Given the description of an element on the screen output the (x, y) to click on. 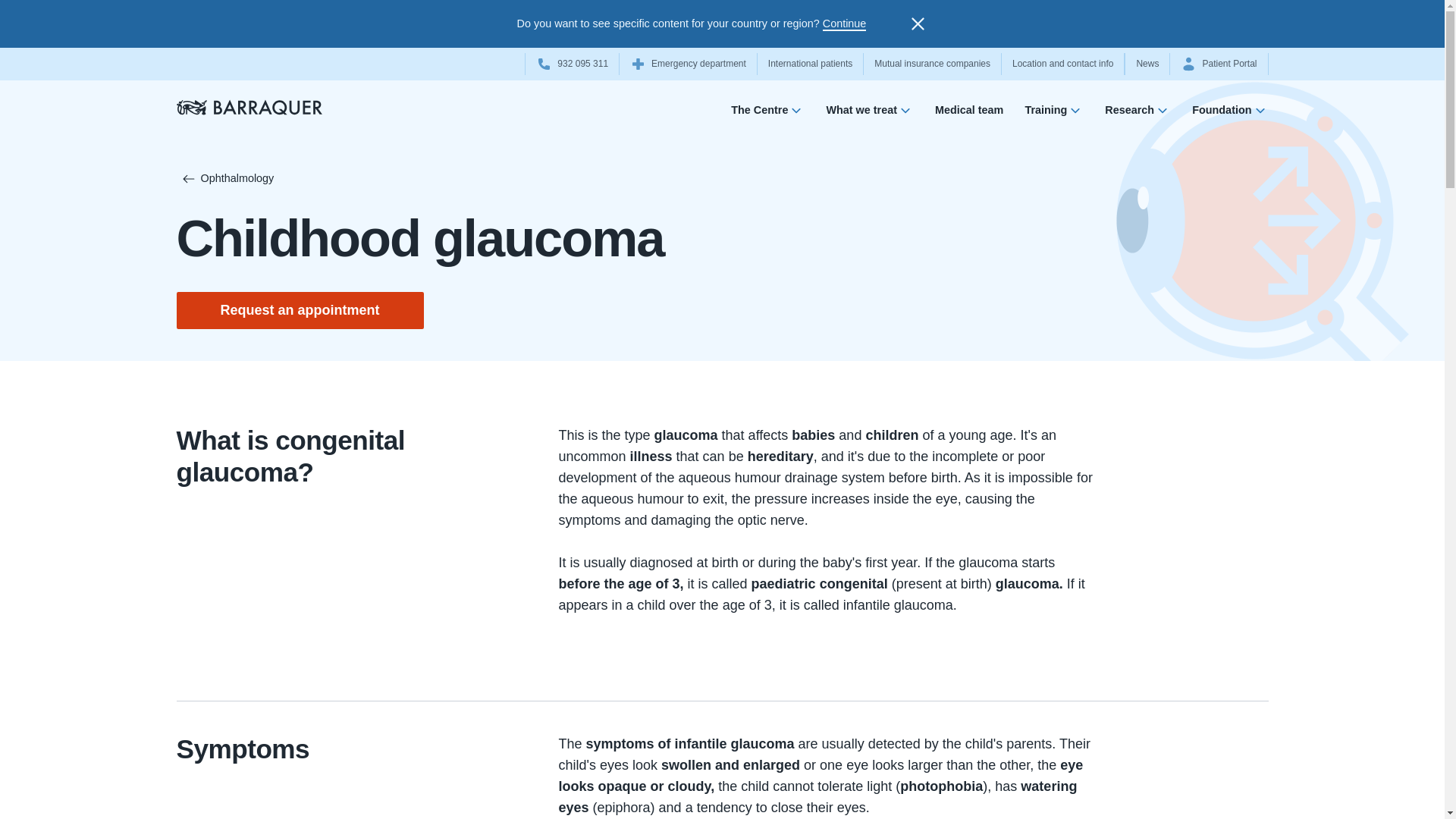
Medical team (968, 112)
Research (1137, 113)
Location and contact info (1062, 64)
Mutual insurance companies (932, 64)
932 095 311 (571, 64)
International patients (810, 64)
Emergency department (688, 64)
The Centre (767, 113)
Patient Portal (1218, 64)
Training (1054, 113)
